Given the description of an element on the screen output the (x, y) to click on. 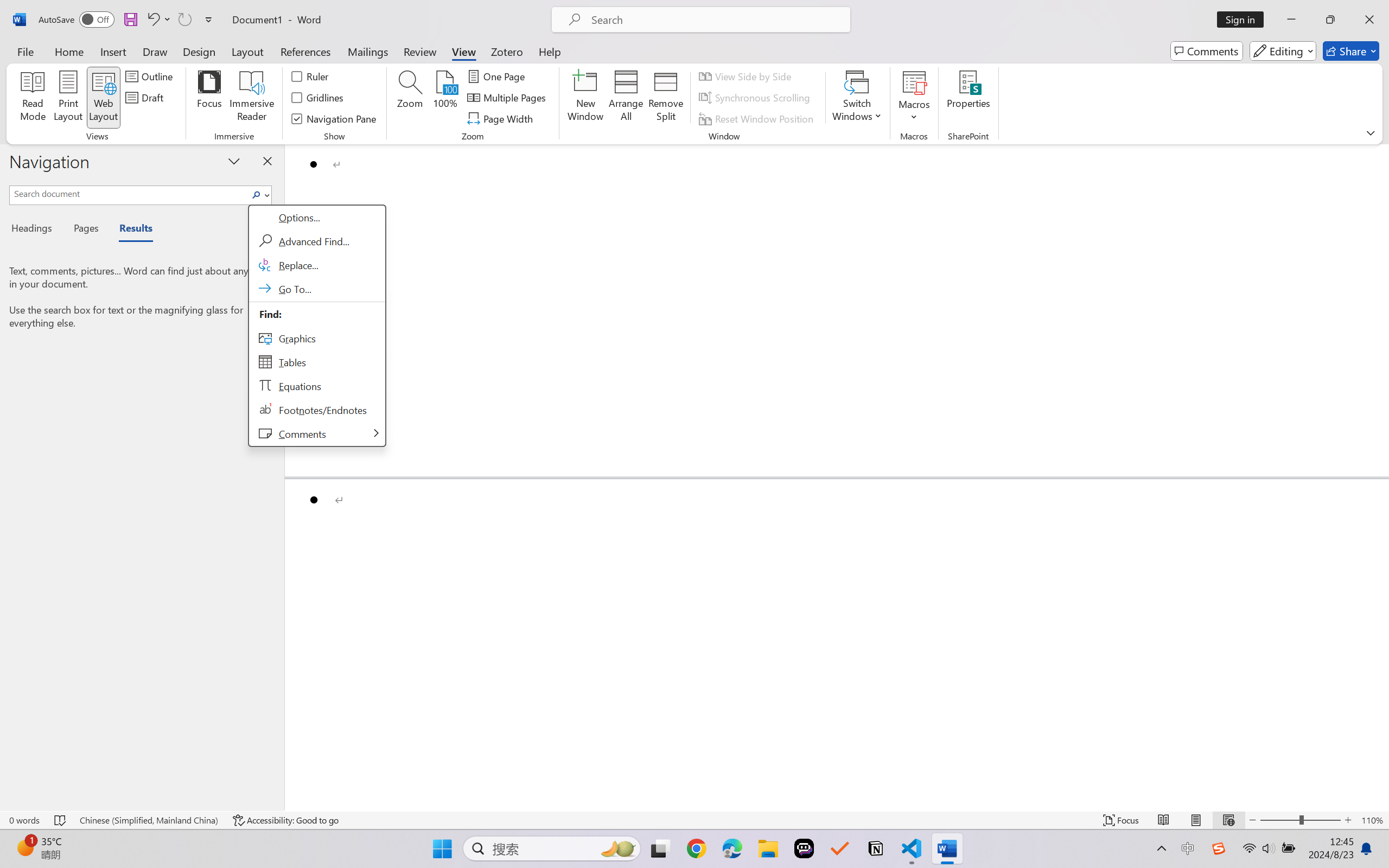
Navigation Pane (334, 118)
Zoom... (409, 97)
Zoom 110% (1372, 819)
Page Width (501, 118)
One Page (497, 75)
Pages (85, 229)
Remove Split (665, 97)
